Given the description of an element on the screen output the (x, y) to click on. 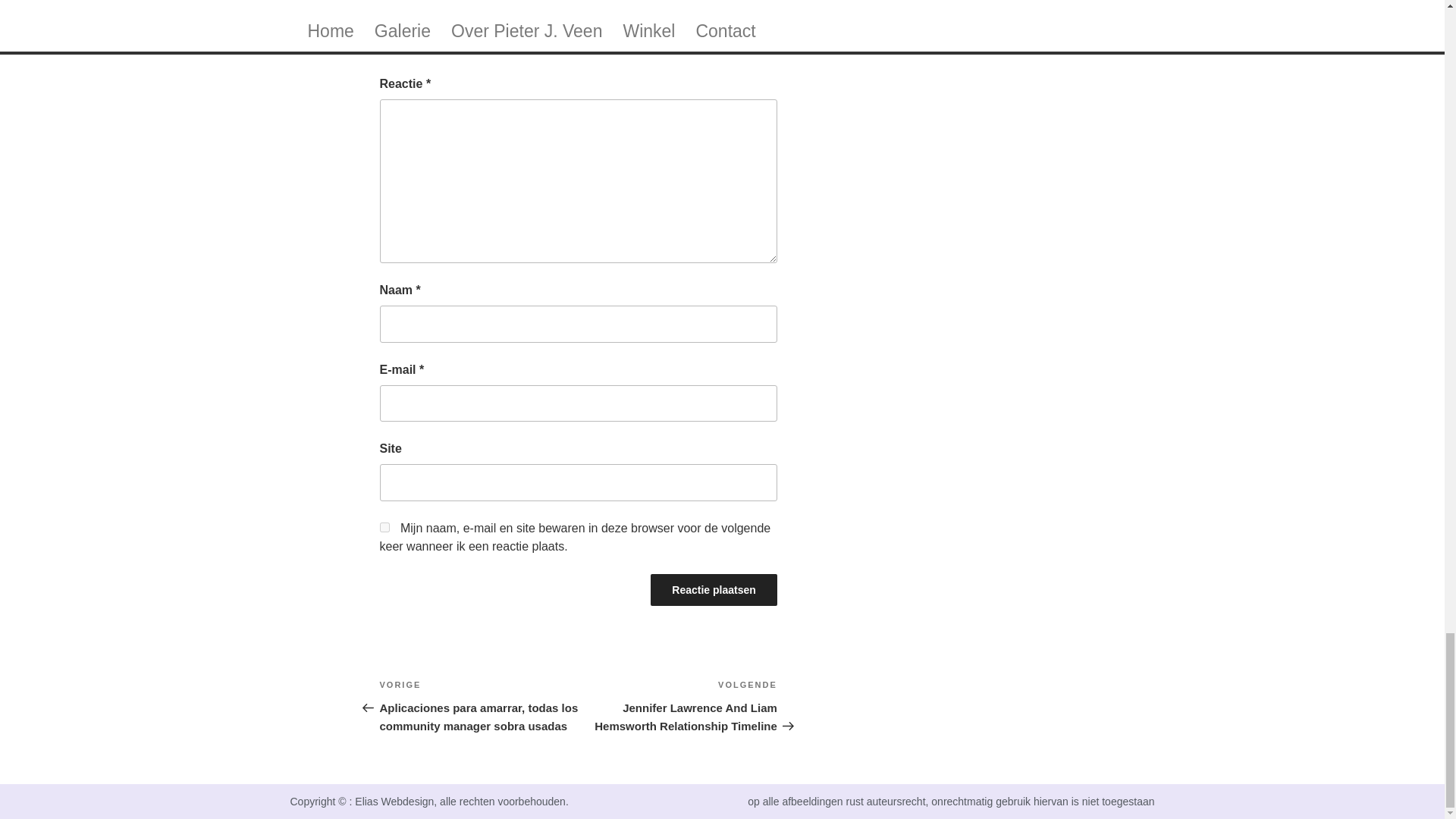
yes (383, 527)
Reactie plaatsen (713, 590)
Reactie plaatsen (713, 590)
Elias Webdesign (394, 801)
